Given the description of an element on the screen output the (x, y) to click on. 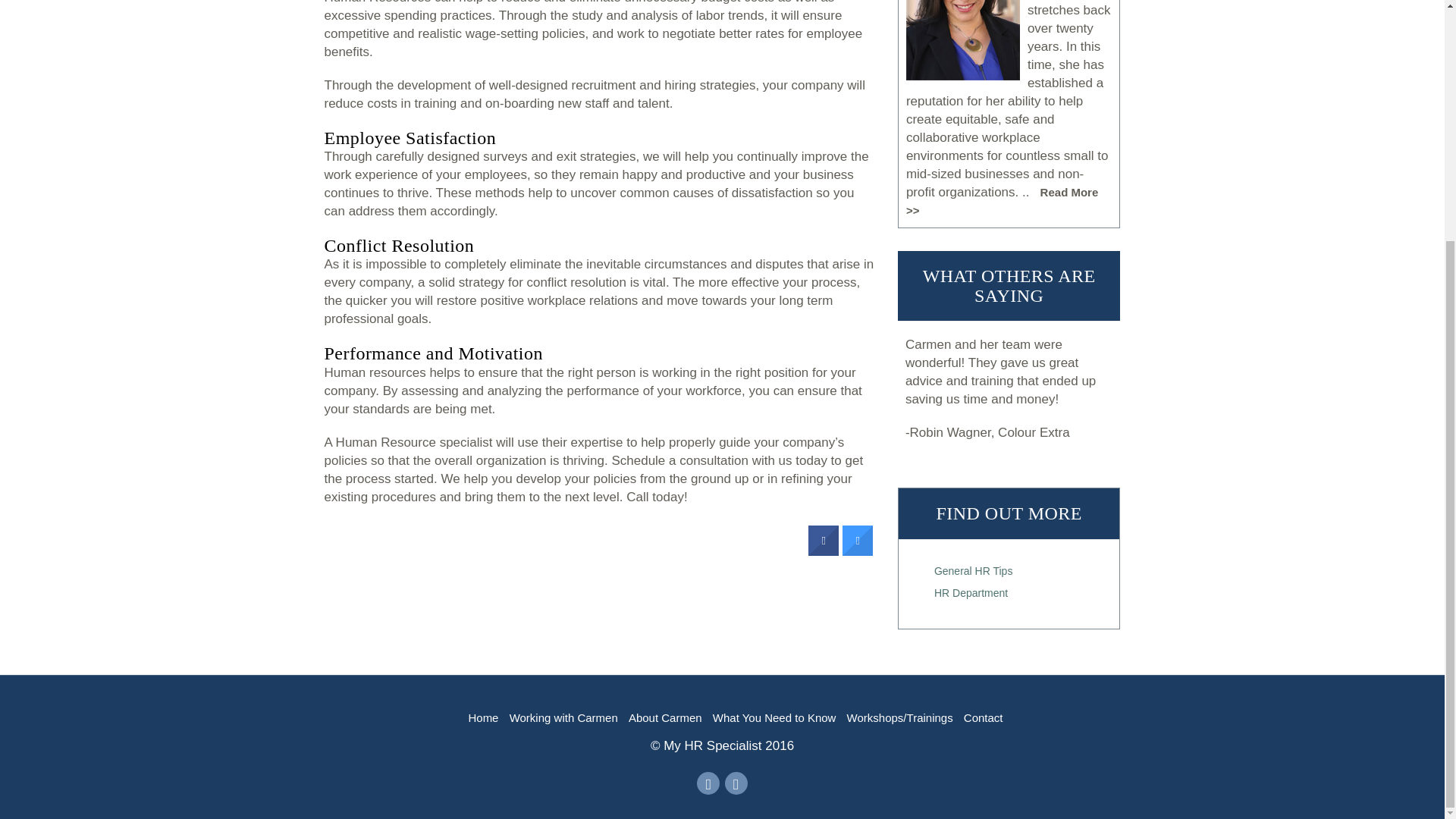
About Carmen (665, 717)
Share on Facebook (823, 551)
General HR Tips (972, 571)
What You Need to Know (774, 717)
Working with Carmen (563, 717)
Share on Twitter (857, 551)
Home (483, 717)
Contact (981, 717)
HR Department (970, 592)
